Given the description of an element on the screen output the (x, y) to click on. 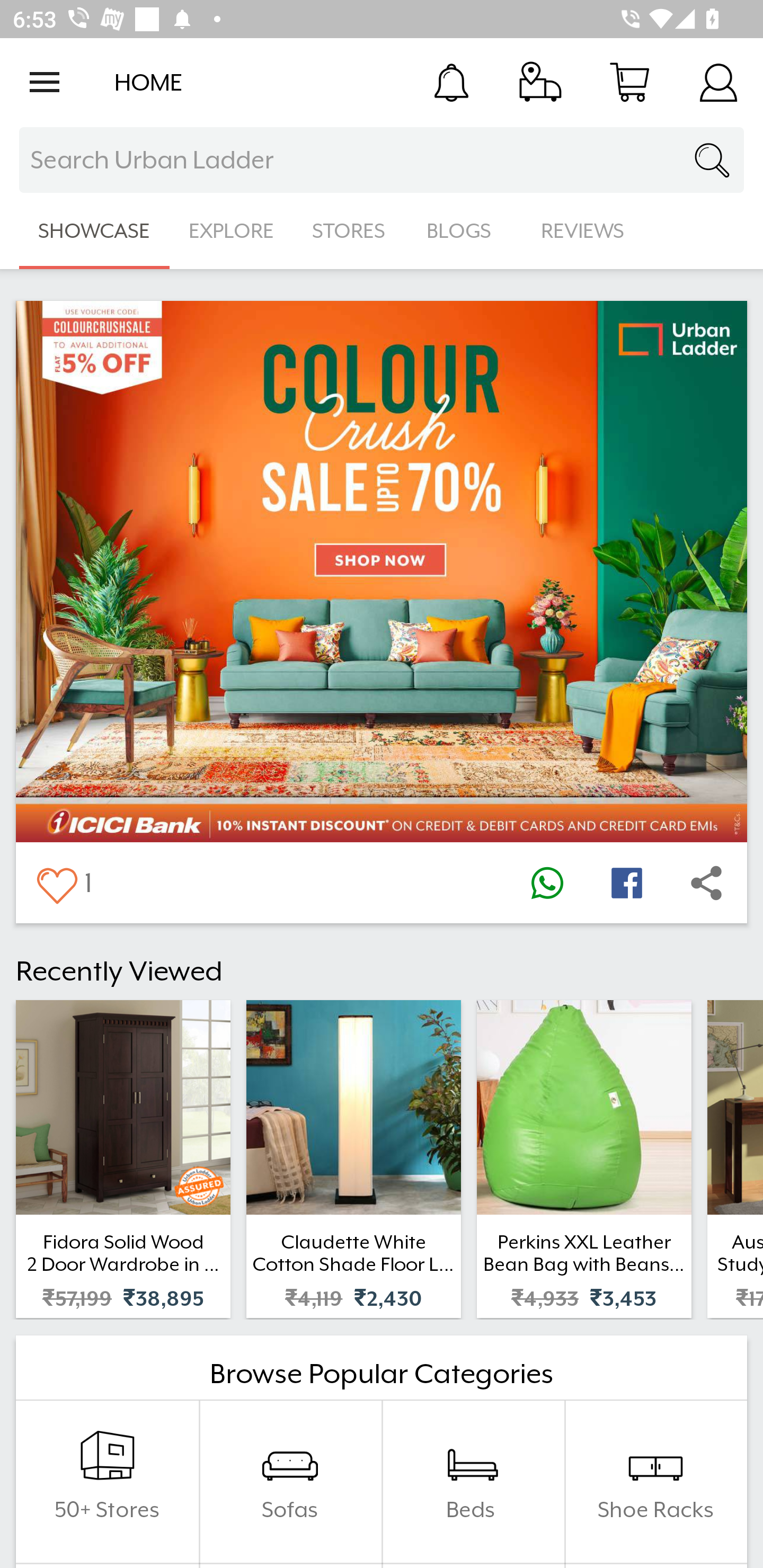
Open navigation drawer (44, 82)
Notification (450, 81)
Track Order (540, 81)
Cart (629, 81)
Account Details (718, 81)
Search Urban Ladder  (381, 159)
SHOWCASE (94, 230)
EXPLORE (230, 230)
STORES (349, 230)
BLOGS (464, 230)
REVIEWS (582, 230)
 (55, 882)
 (547, 882)
 (626, 882)
 (706, 882)
50+ Stores (106, 1481)
Sofas (289, 1481)
Beds  (473, 1481)
Shoe Racks (655, 1481)
